Given the description of an element on the screen output the (x, y) to click on. 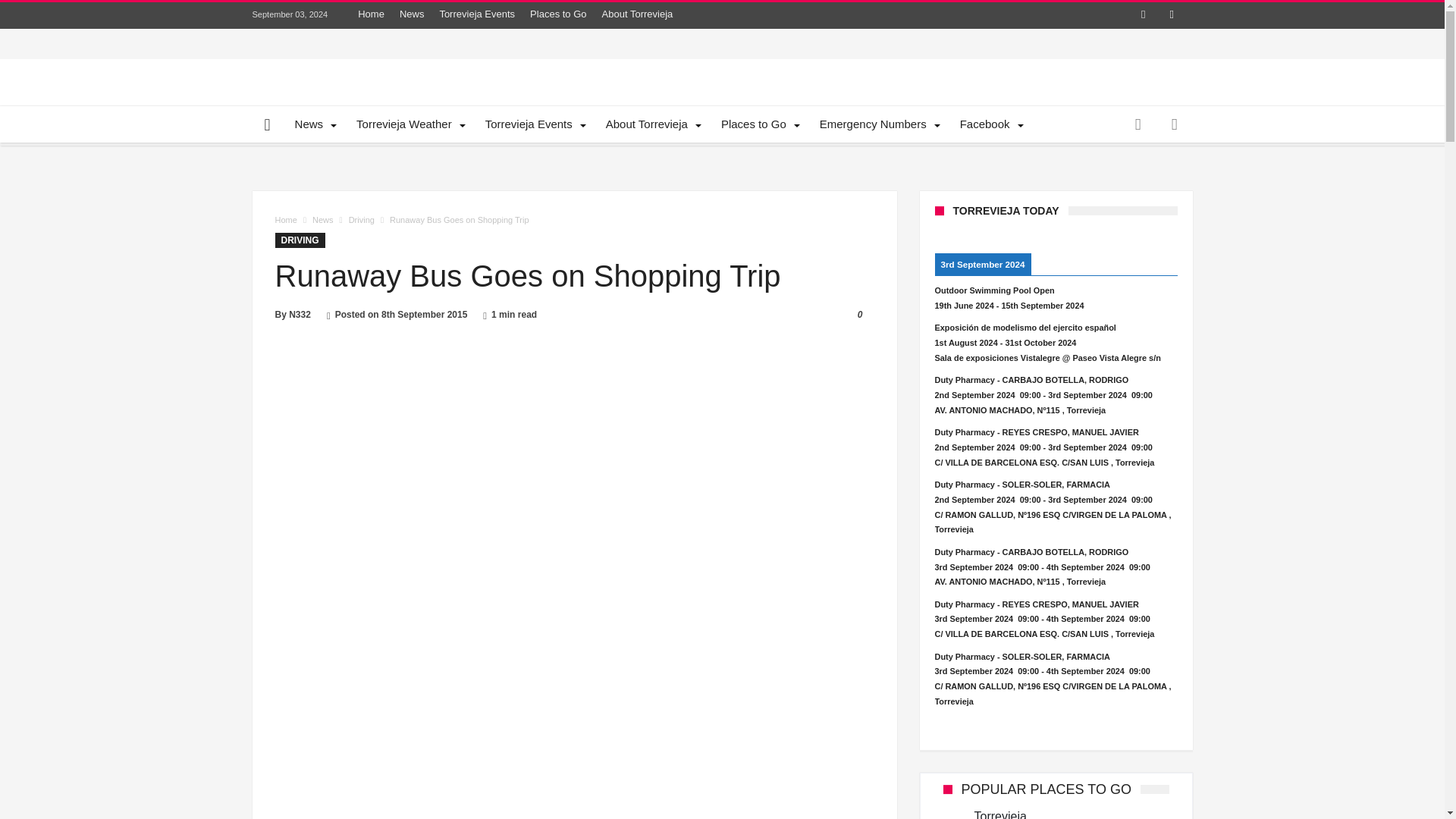
Events in Torrevieja (533, 124)
Home (370, 14)
Torrevieja Weather (408, 124)
About Torrevieja (637, 14)
Torrevieja weather forecast and live map (408, 124)
News (411, 14)
News (313, 124)
Facebook (1143, 15)
Torrevieja News (313, 124)
Twitter (1170, 15)
